Given the description of an element on the screen output the (x, y) to click on. 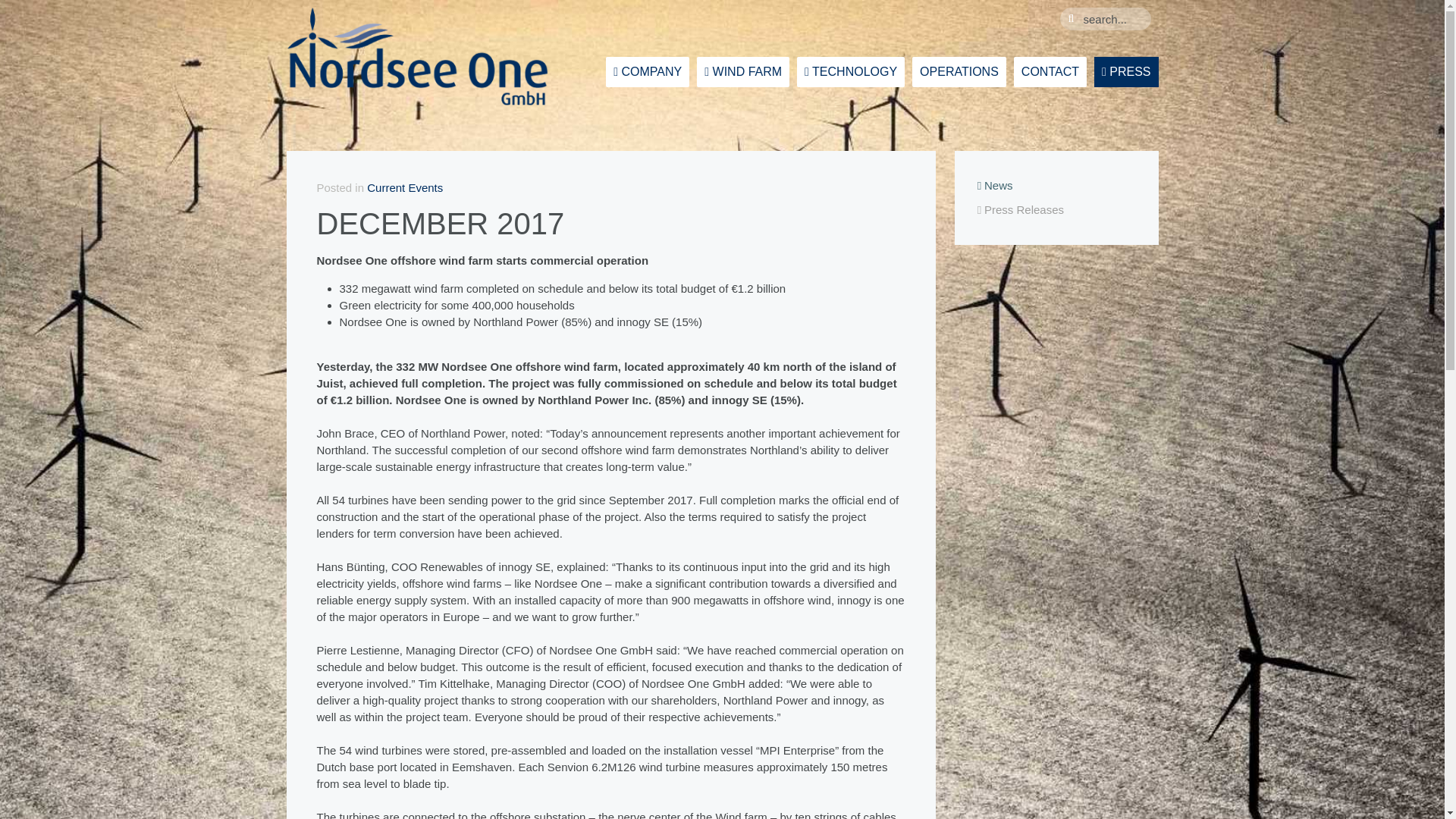
Press Releases (1055, 209)
COMPANY (646, 71)
OPERATIONS (959, 71)
CONTACT (1049, 71)
TECHNOLOGY (850, 71)
PRESS (1126, 71)
WIND FARM (743, 71)
Current Events (404, 187)
News (1055, 185)
